Given the description of an element on the screen output the (x, y) to click on. 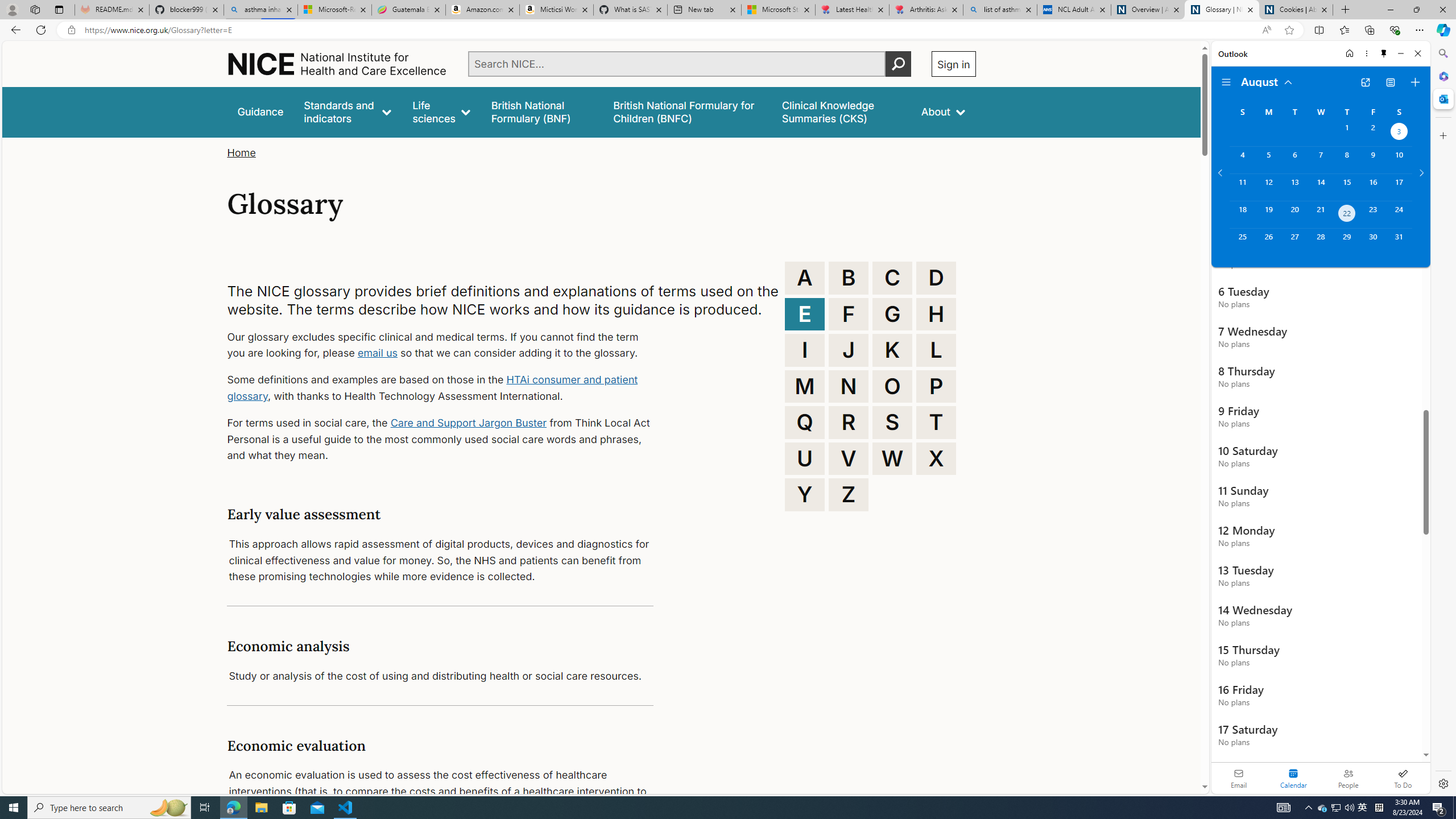
A (804, 277)
Microsoft Start (777, 9)
L (935, 350)
E (804, 313)
Guidance (260, 111)
British National Formulary for Children (BNFC) (686, 111)
Sign in (952, 63)
Refresh (40, 29)
I (804, 350)
Perform search (898, 63)
Back (13, 29)
